Given the description of an element on the screen output the (x, y) to click on. 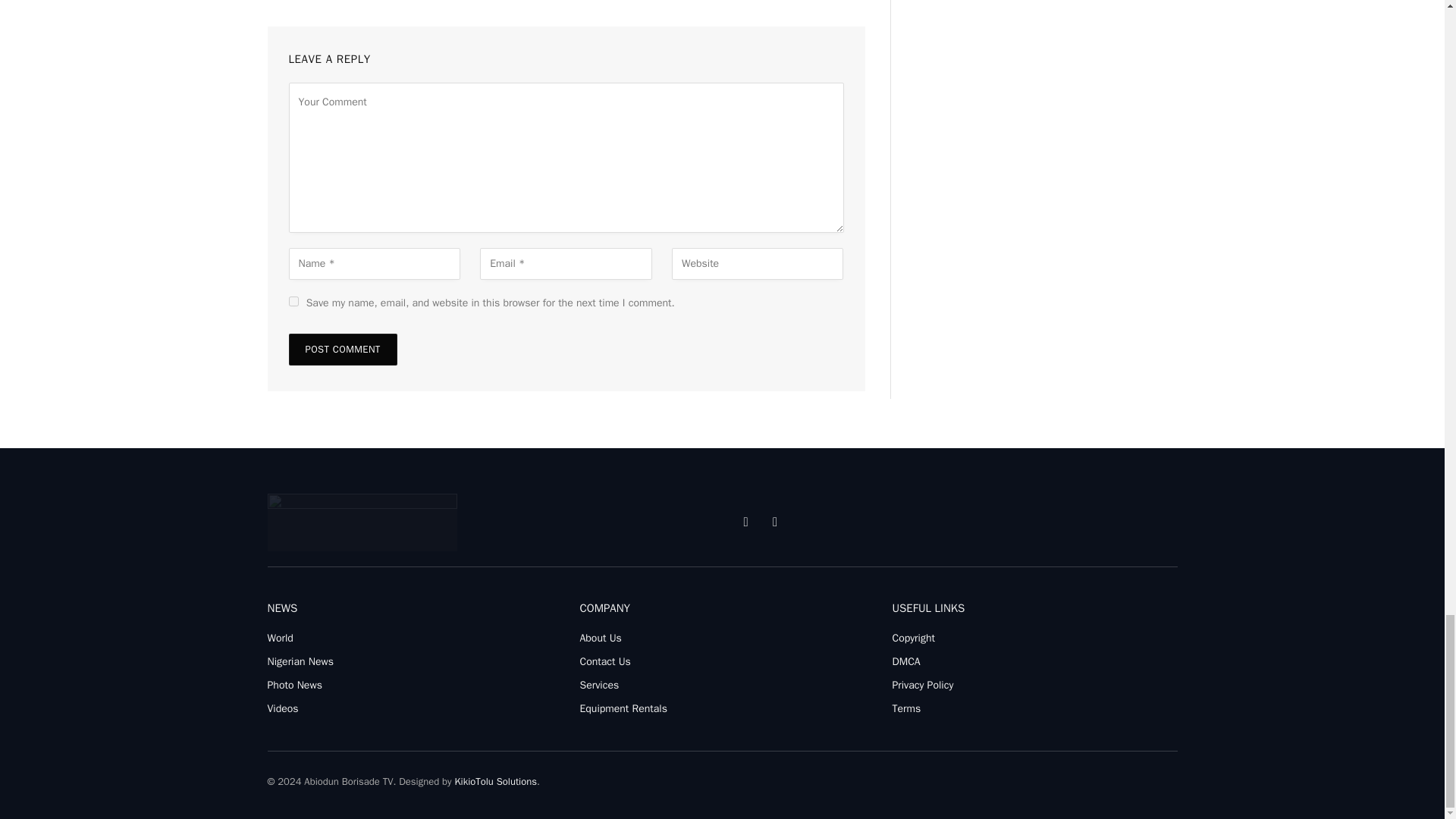
yes (293, 301)
Post Comment (342, 349)
